Given the description of an element on the screen output the (x, y) to click on. 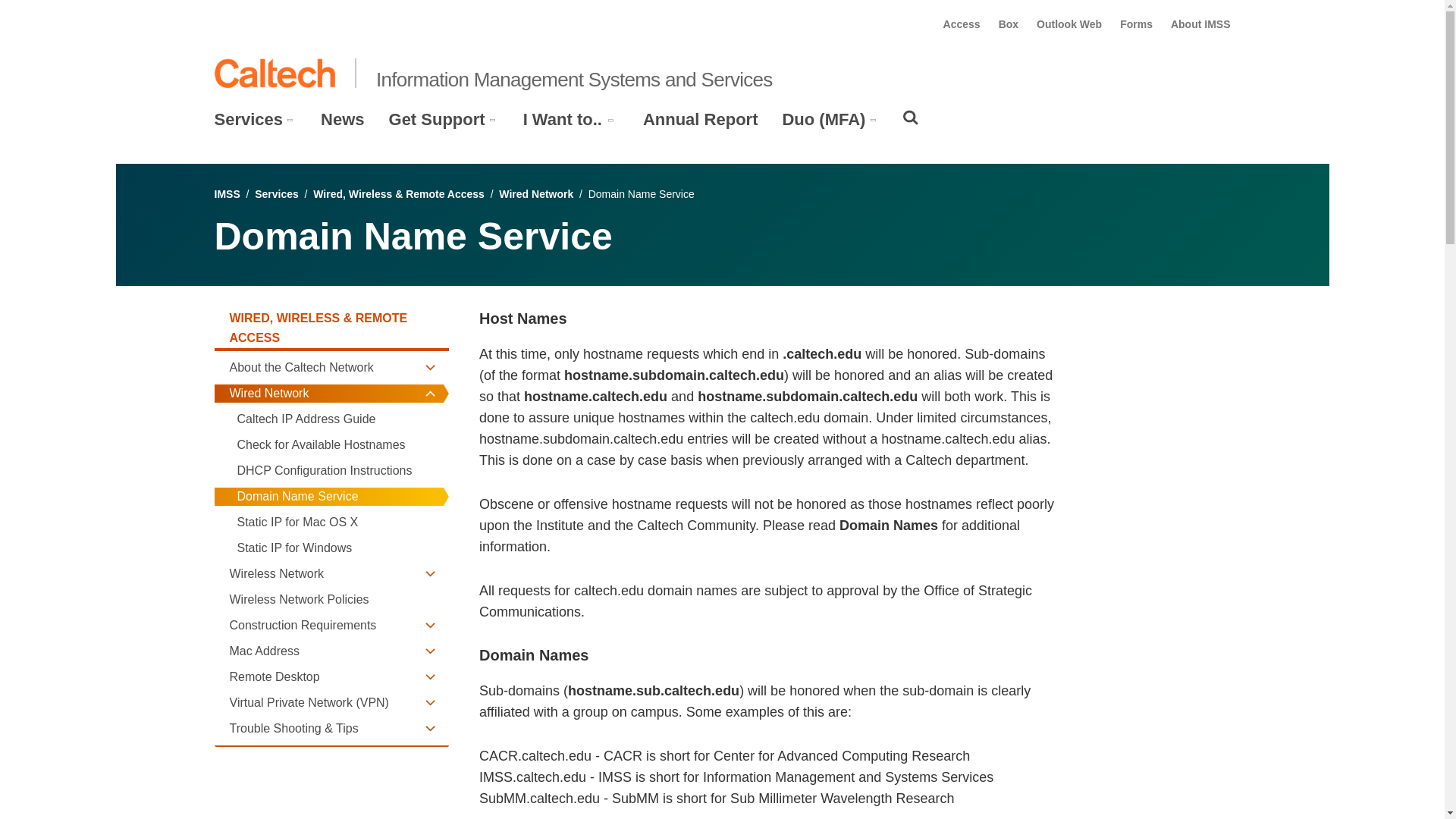
Forms (1136, 24)
Services (248, 119)
Outlook Web (1069, 24)
About IMSS (1200, 24)
Access (961, 24)
skip to main content (53, 12)
Information Management Systems and Services (574, 79)
Box (1007, 24)
